Given the description of an element on the screen output the (x, y) to click on. 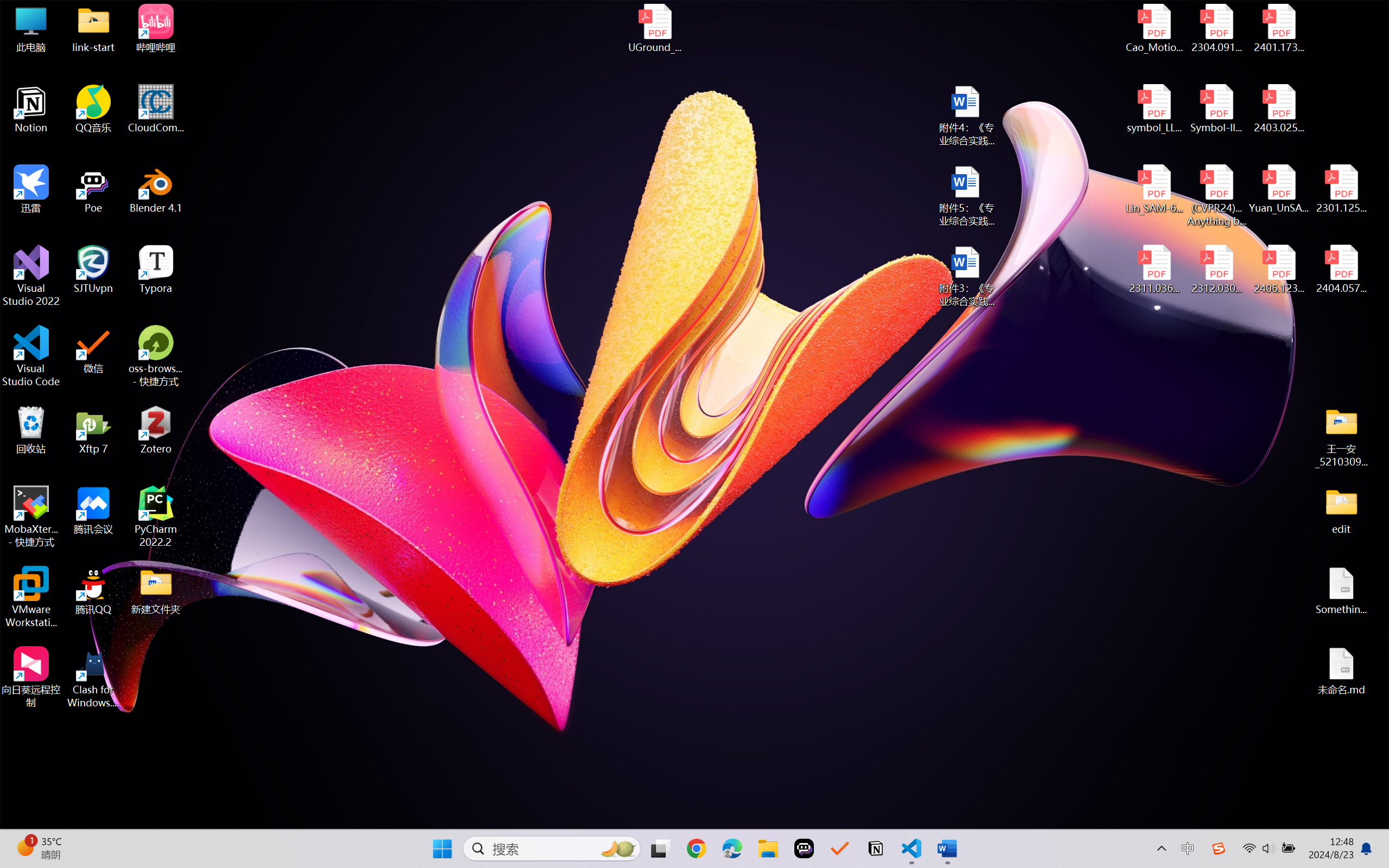
2401.17399v1.pdf (1278, 28)
VMware Workstation Pro (31, 597)
CloudCompare (156, 109)
2311.03658v2.pdf (1154, 269)
2304.09121v3.pdf (1216, 28)
Xftp 7 (93, 430)
UGround_paper.pdf (654, 28)
